Given the description of an element on the screen output the (x, y) to click on. 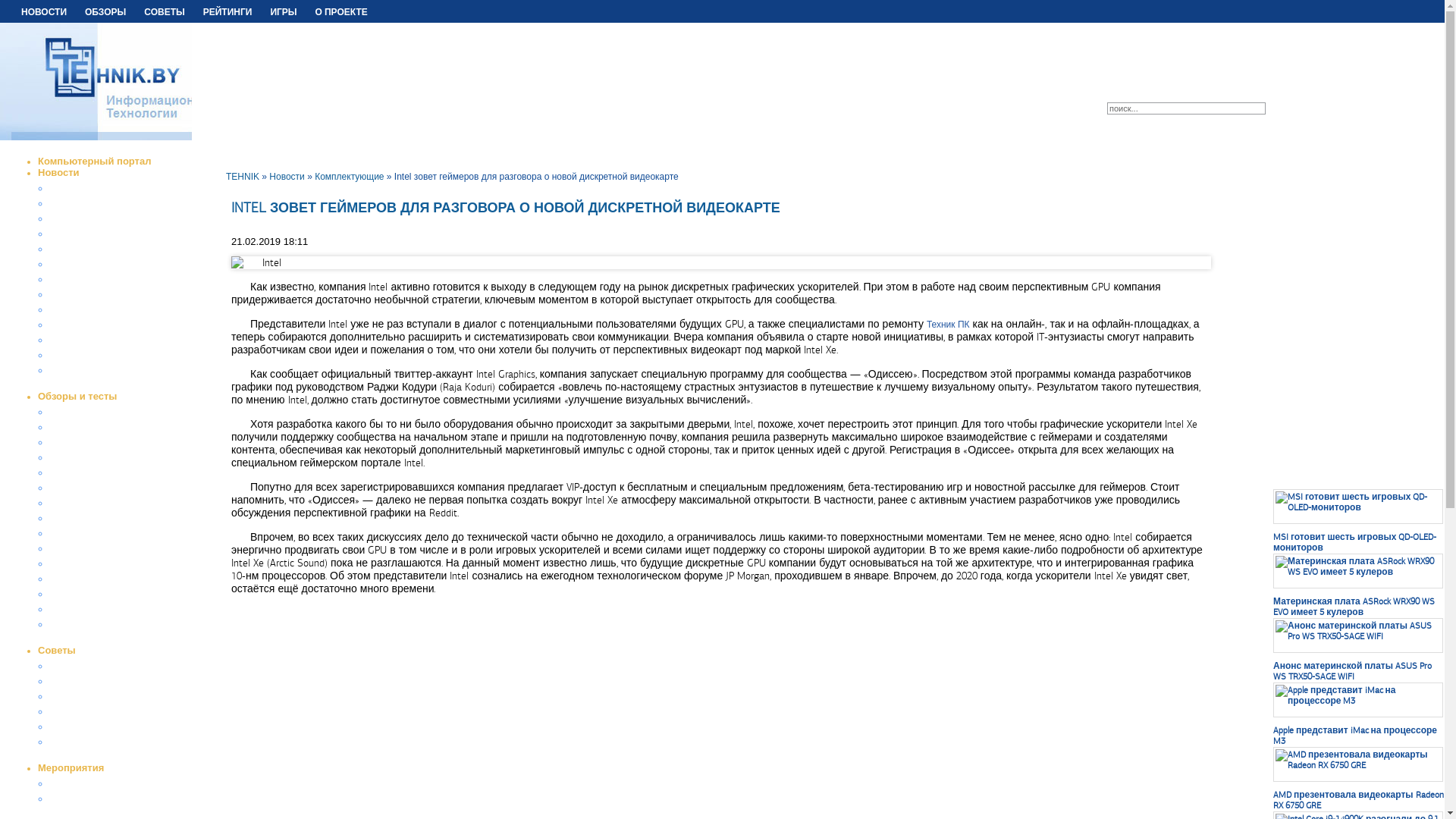
Advertisement Element type: hover (1337, 243)
TEHNIK Element type: text (242, 176)
Intel Element type: hover (721, 262)
